Given the description of an element on the screen output the (x, y) to click on. 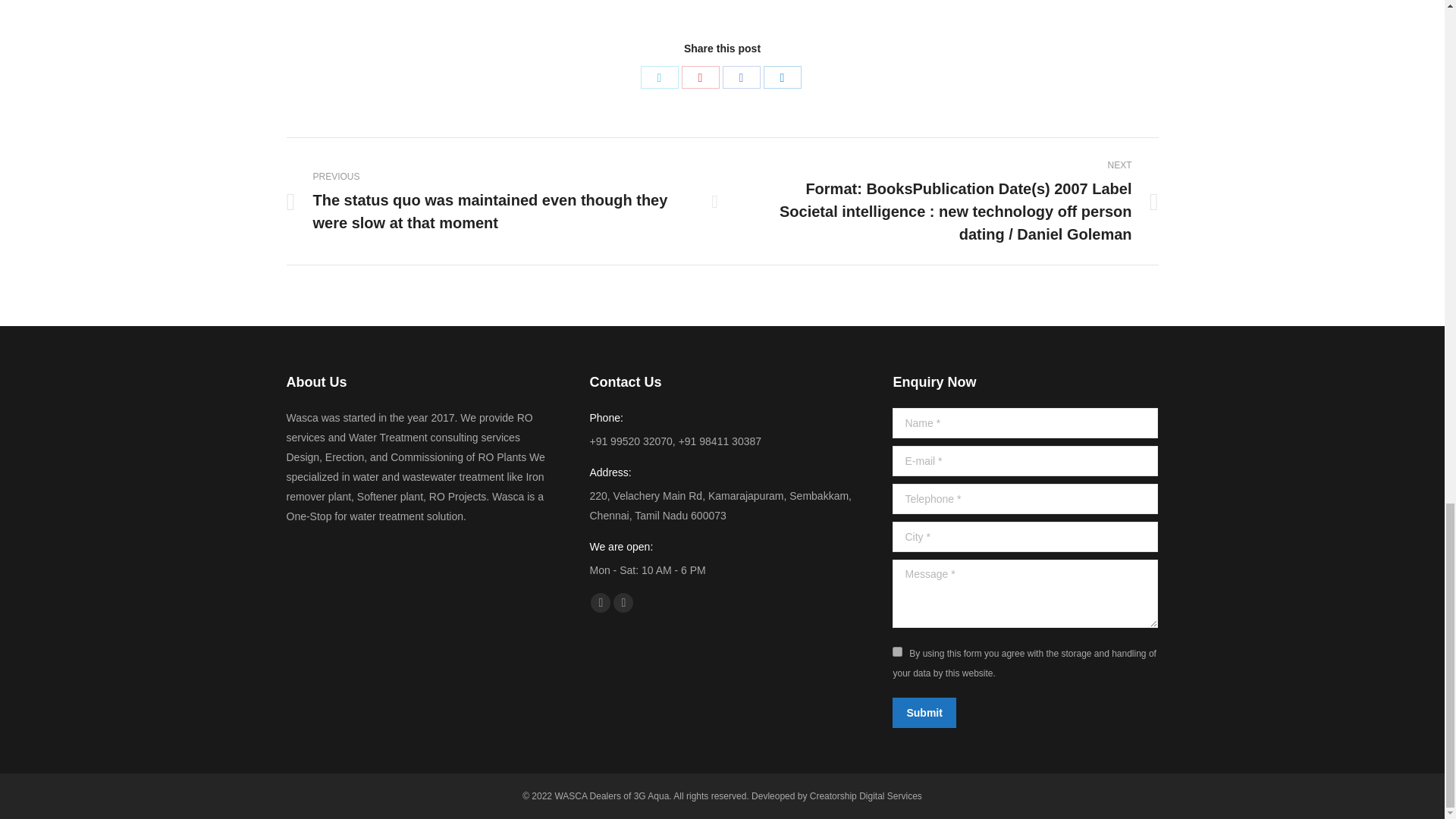
Twitter (659, 77)
Pinterest (700, 77)
Facebook page opens in new window (600, 602)
YouTube page opens in new window (622, 602)
LinkedIn (781, 77)
11:44 am (829, 0)
View all posts by wasca (777, 0)
Facebook (741, 77)
submit (996, 714)
on (897, 651)
